Given the description of an element on the screen output the (x, y) to click on. 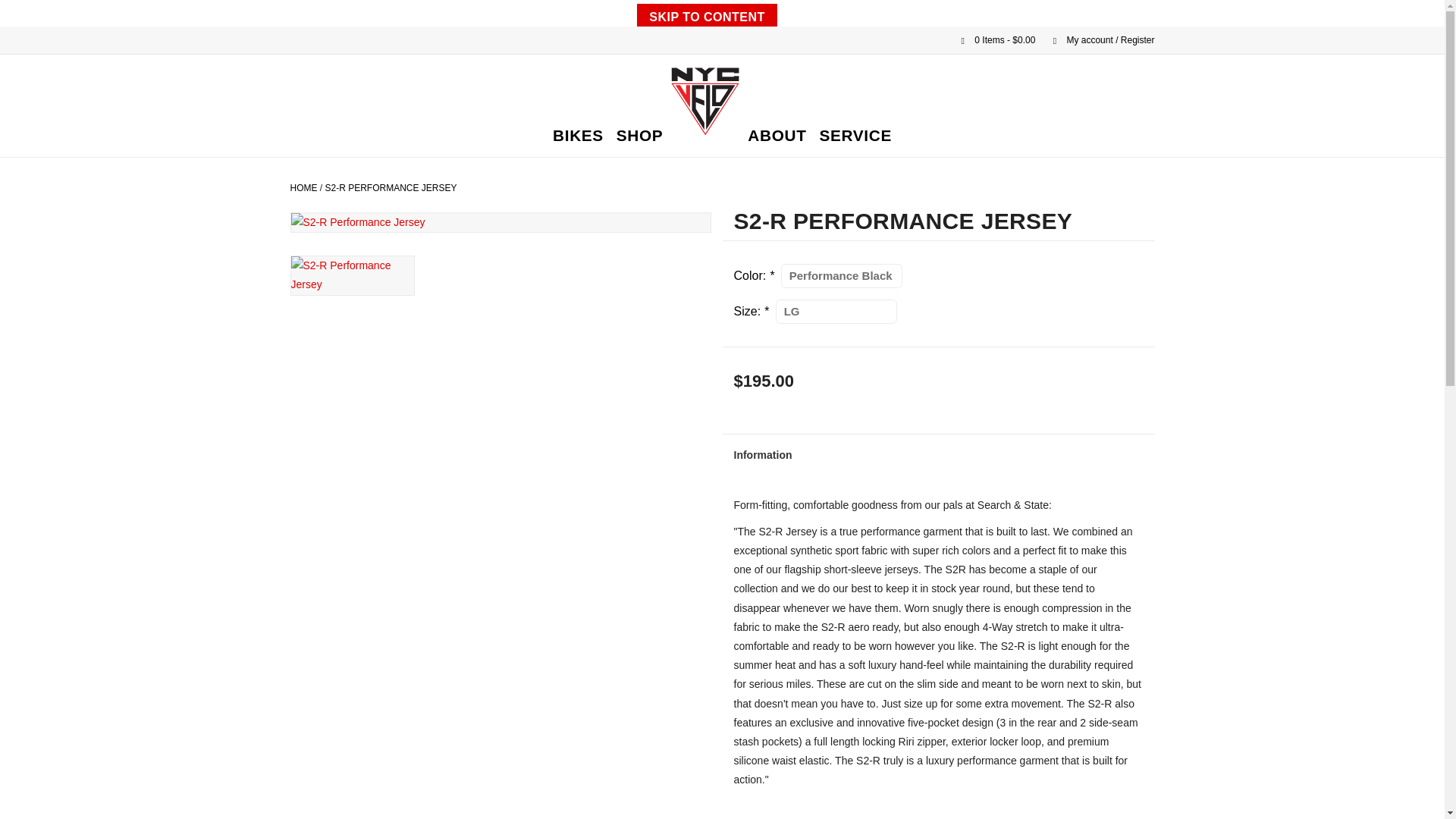
SKIP TO CONTENT (707, 15)
NYC Velo icon (704, 101)
Cart (992, 40)
BIKES (578, 135)
Bikes (578, 135)
SHOP (639, 135)
My account (1096, 40)
